Given the description of an element on the screen output the (x, y) to click on. 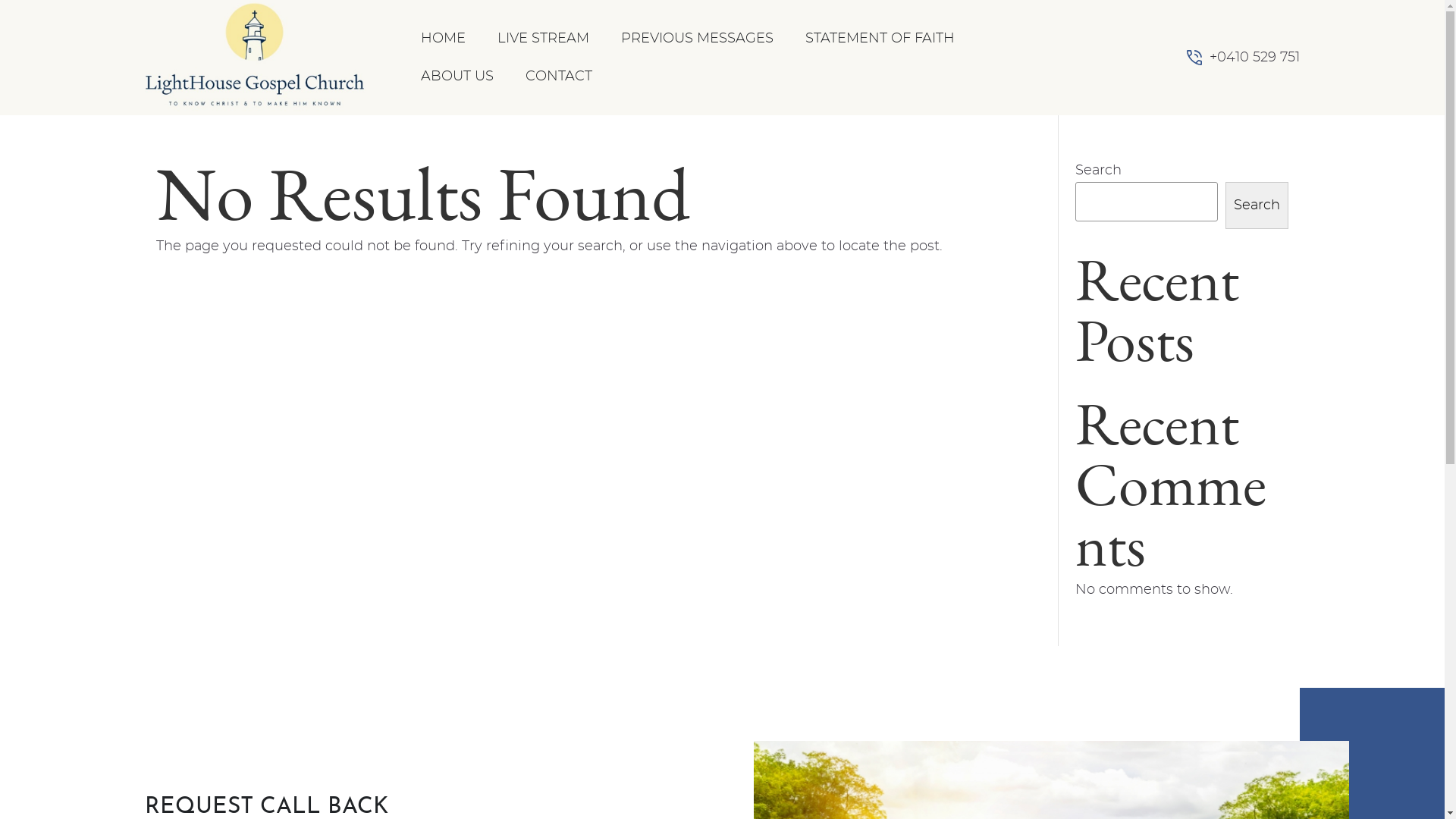
PREVIOUS MESSAGES Element type: text (697, 38)
LIVE STREAM Element type: text (542, 38)
STATEMENT OF FAITH Element type: text (879, 38)
LightHouse Gospel Church Element type: hover (254, 57)
CONTACT Element type: text (558, 76)
Search Element type: text (1256, 205)
ABOUT US Element type: text (457, 76)
HOME Element type: text (443, 38)
Phone Number Element type: hover (1193, 57)
